Given the description of an element on the screen output the (x, y) to click on. 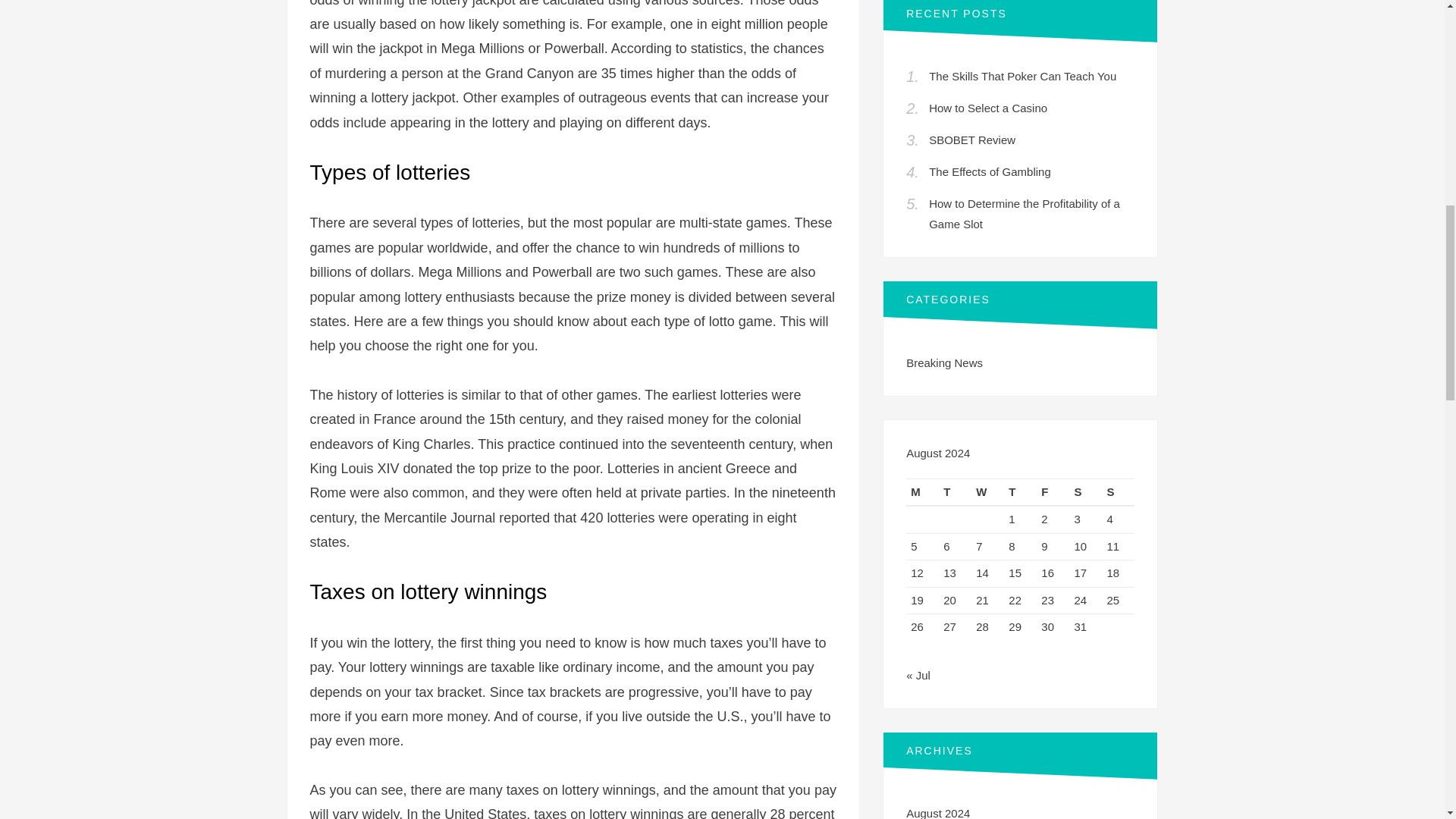
How to Determine the Profitability of a Game Slot (1023, 213)
14 (981, 572)
10 (1080, 545)
Saturday (1085, 492)
The Effects of Gambling (989, 171)
13 (949, 572)
Thursday (1020, 492)
SBOBET Review (971, 139)
12 (917, 572)
Wednesday (987, 492)
